Given the description of an element on the screen output the (x, y) to click on. 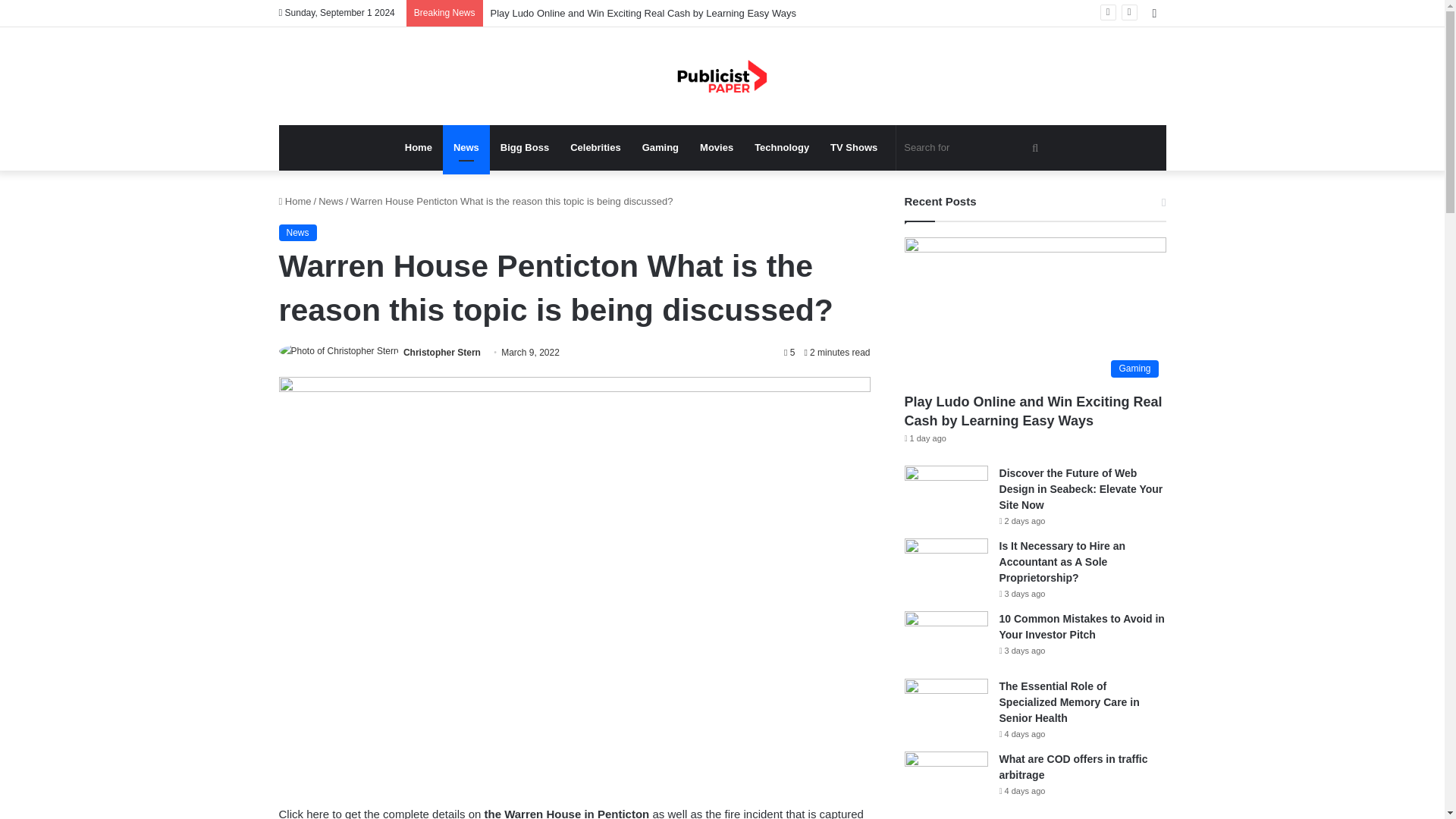
Technology (781, 147)
News (465, 147)
Christopher Stern (441, 352)
News (330, 201)
Movies (716, 147)
Home (295, 201)
Celebrities (594, 147)
News (298, 232)
Gaming (659, 147)
TV Shows (853, 147)
